Given the description of an element on the screen output the (x, y) to click on. 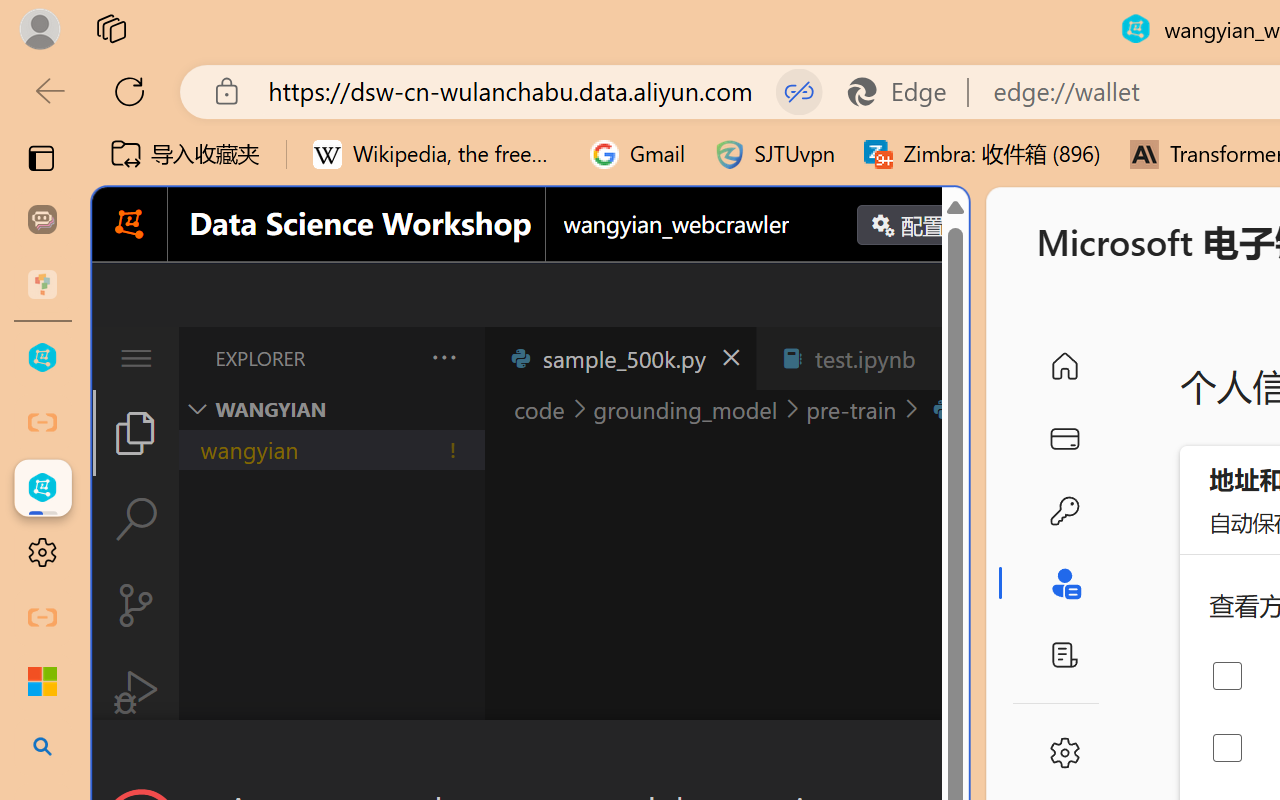
Tab actions (945, 358)
Explorer actions (391, 358)
Class: menubar compact overflow-menu-only (135, 358)
Explorer (Ctrl+Shift+E) (135, 432)
test.ipynb (864, 358)
